Given the description of an element on the screen output the (x, y) to click on. 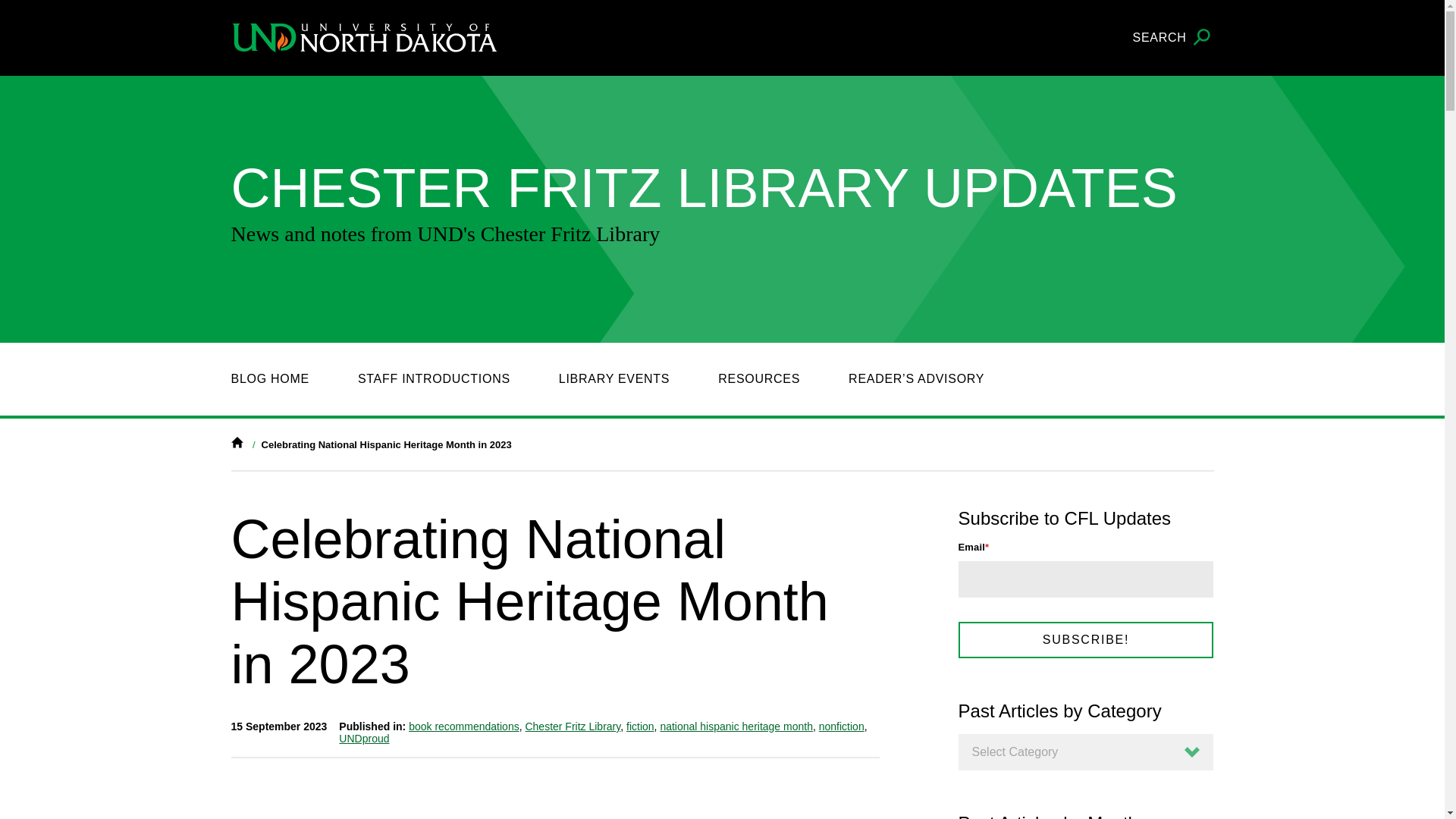
LIBRARY EVENTS (614, 378)
BLOG HOME (269, 378)
Subscribe! (1086, 639)
STAFF INTRODUCTIONS (434, 378)
UNDproud (363, 738)
national hispanic heritage month (735, 726)
CHESTER FRITZ LIBRARY UPDATES (669, 188)
RESOURCES (758, 378)
SEARCH (1173, 37)
Email (1086, 579)
Chester Fritz Library (572, 726)
fiction (639, 726)
nonfiction (841, 726)
book recommendations (464, 726)
